Given the description of an element on the screen output the (x, y) to click on. 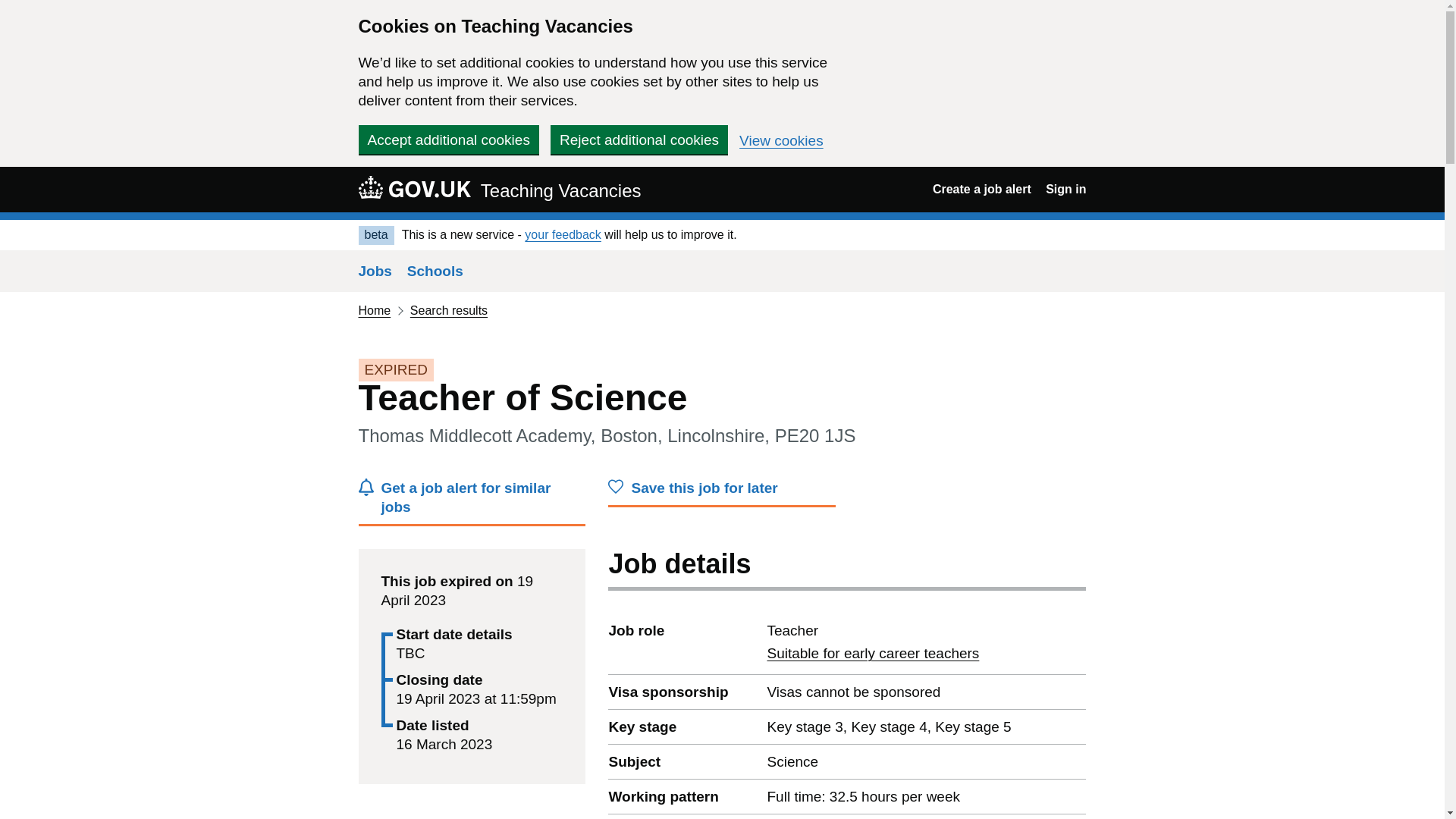
Get a job alert for similar jobs (471, 501)
Save this job for later (721, 491)
View cookies (781, 140)
GOV.UK Teaching Vacancies (499, 188)
Create a job alert (981, 188)
Schools (435, 270)
your feedback (562, 234)
Jobs (374, 270)
Home (374, 309)
Sign in (1065, 188)
Accept additional cookies (448, 139)
Reject additional cookies (872, 652)
GOV.UK (639, 139)
Skip to main content (414, 187)
